Given the description of an element on the screen output the (x, y) to click on. 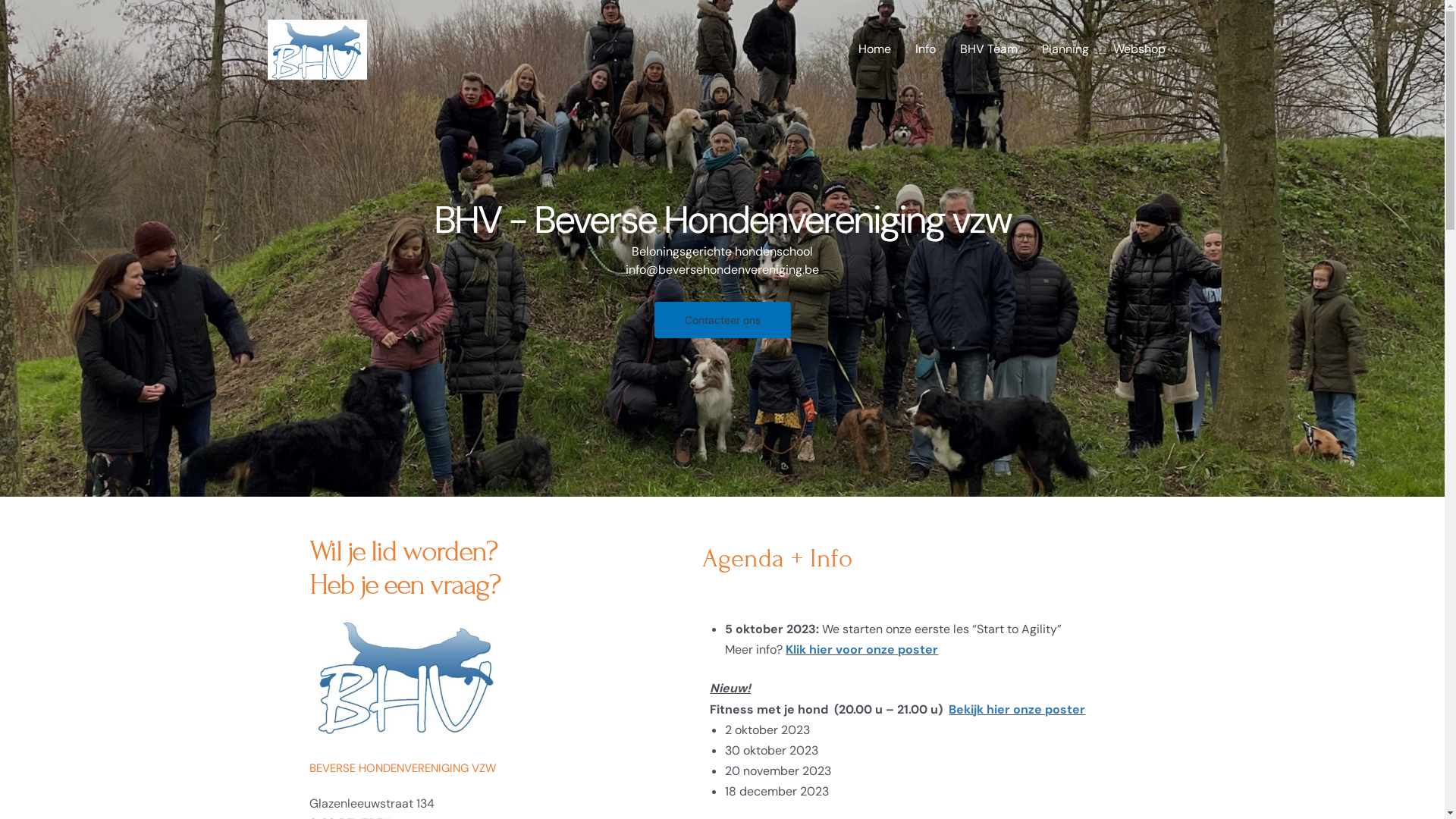
Contacteer ons Element type: text (721, 319)
Home Element type: text (874, 48)
Bekijk hier onze poster Element type: text (1016, 708)
Webshop Element type: text (1139, 48)
Planning Element type: text (1065, 48)
Klik hier voor onze poster Element type: text (861, 649)
BHV Team Element type: text (988, 48)
Info Element type: text (924, 48)
